Given the description of an element on the screen output the (x, y) to click on. 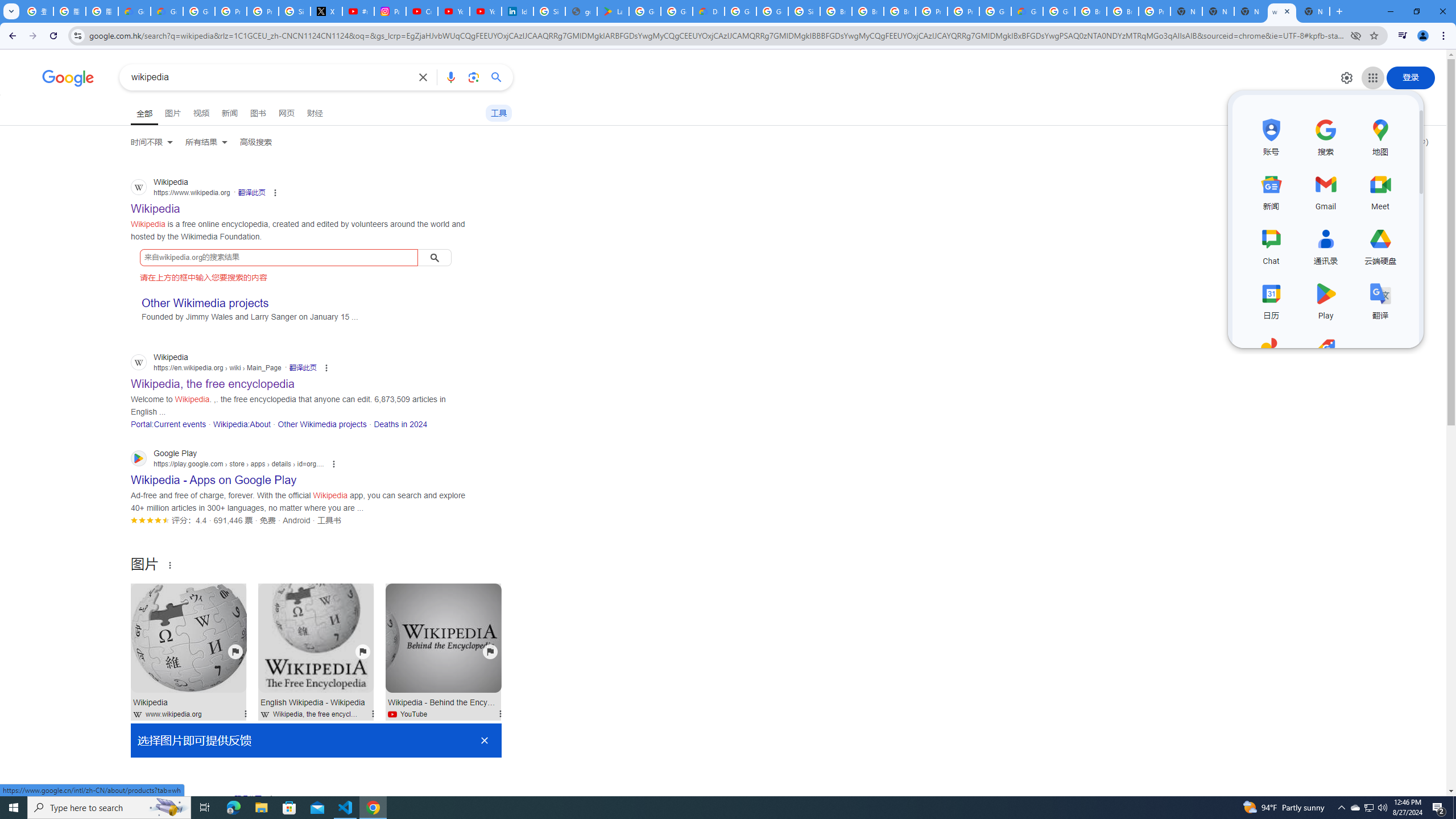
Google Cloud Privacy Notice (166, 11)
New Tab (1313, 11)
Browse Chrome as a guest - Computer - Google Chrome Help (868, 11)
Google Cloud Platform (1059, 11)
